Given the description of an element on the screen output the (x, y) to click on. 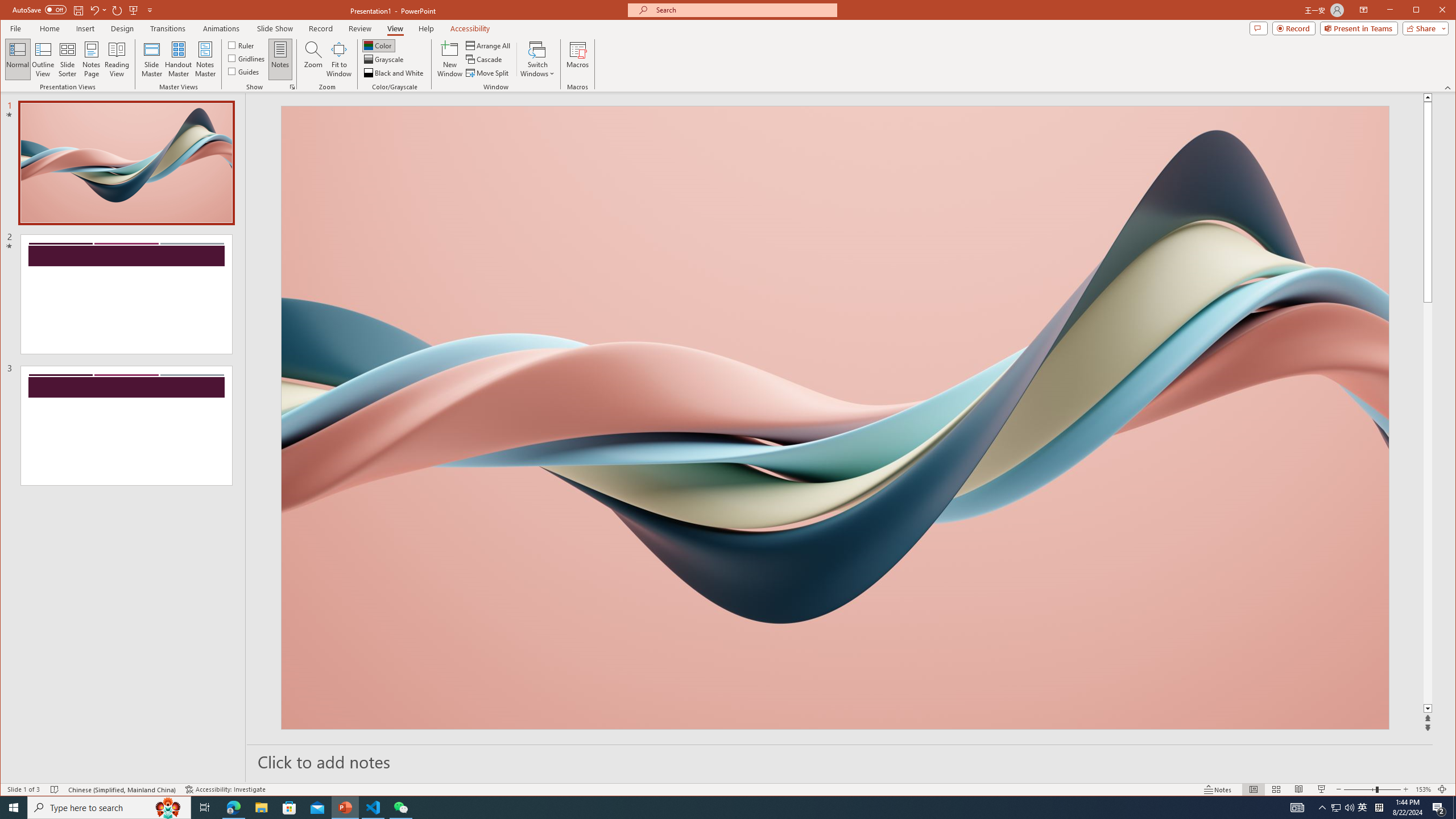
Grayscale (384, 59)
Move Split (488, 72)
